Given the description of an element on the screen output the (x, y) to click on. 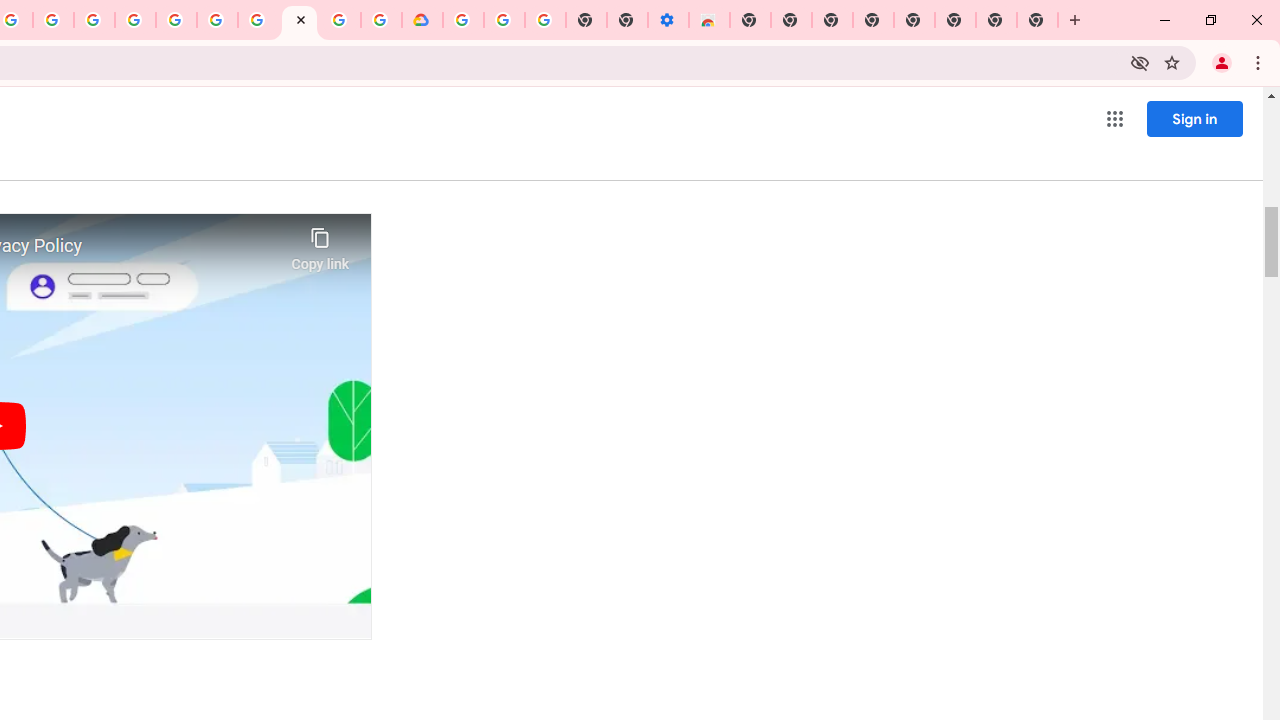
Copy link (319, 244)
Google Account Help (258, 20)
Google Account Help (503, 20)
Create your Google Account (53, 20)
New Tab (1037, 20)
Create your Google Account (340, 20)
Sign in - Google Accounts (176, 20)
